Given the description of an element on the screen output the (x, y) to click on. 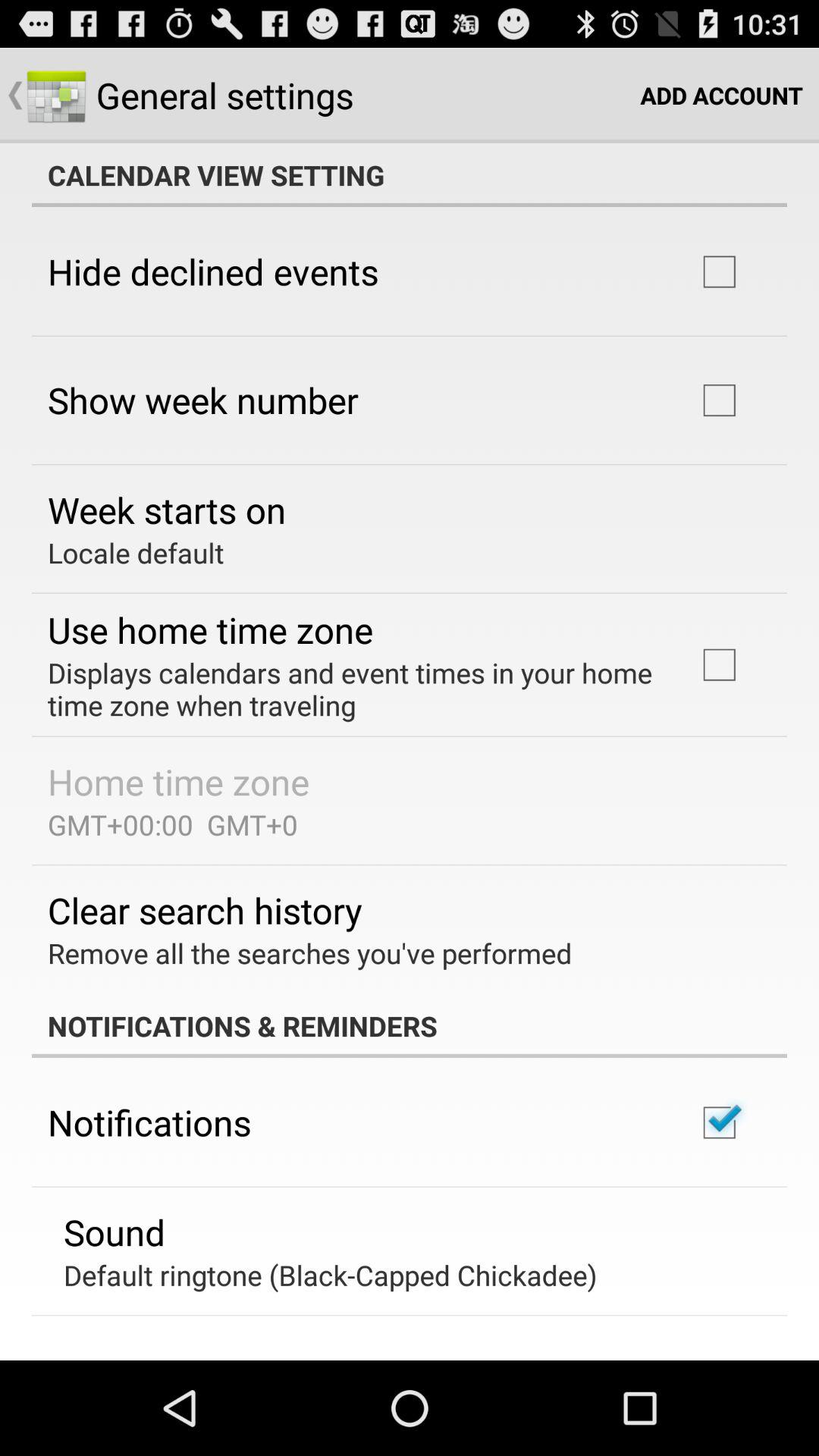
open item below the home time zone app (172, 824)
